Given the description of an element on the screen output the (x, y) to click on. 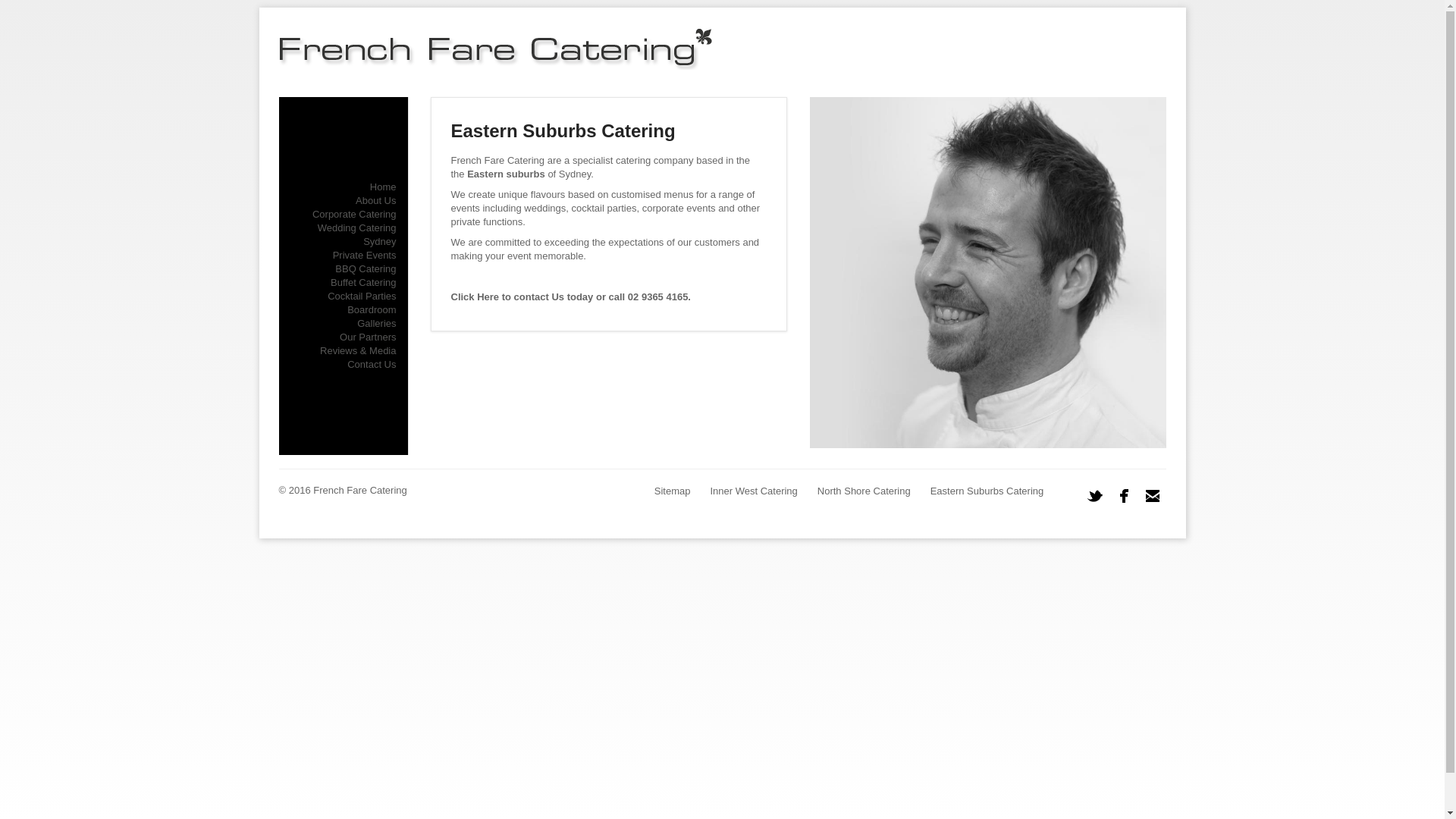
North Shore Catering Element type: text (863, 490)
Corporate Catering Element type: text (354, 214)
Eastern Suburbs Catering Element type: text (562, 130)
Private Events Element type: text (364, 255)
BBQ Catering Element type: text (365, 268)
Cocktail Parties Element type: text (361, 296)
Email Element type: text (1152, 495)
Our Partners Element type: text (367, 337)
Boardroom Element type: text (371, 309)
Inner West Catering Element type: text (753, 490)
Buffet Catering Element type: text (363, 282)
Sitemap Element type: text (672, 490)
Twitter Element type: text (1094, 495)
Home Element type: text (382, 186)
Reviews & Media Element type: text (357, 350)
About Us Element type: text (375, 200)
Eastern Suburbs Catering Element type: text (987, 490)
Contact Us Element type: text (371, 364)
Facebook Element type: text (1123, 495)
Wedding Catering Sydney Element type: text (356, 234)
Galleries Element type: text (376, 323)
